Given the description of an element on the screen output the (x, y) to click on. 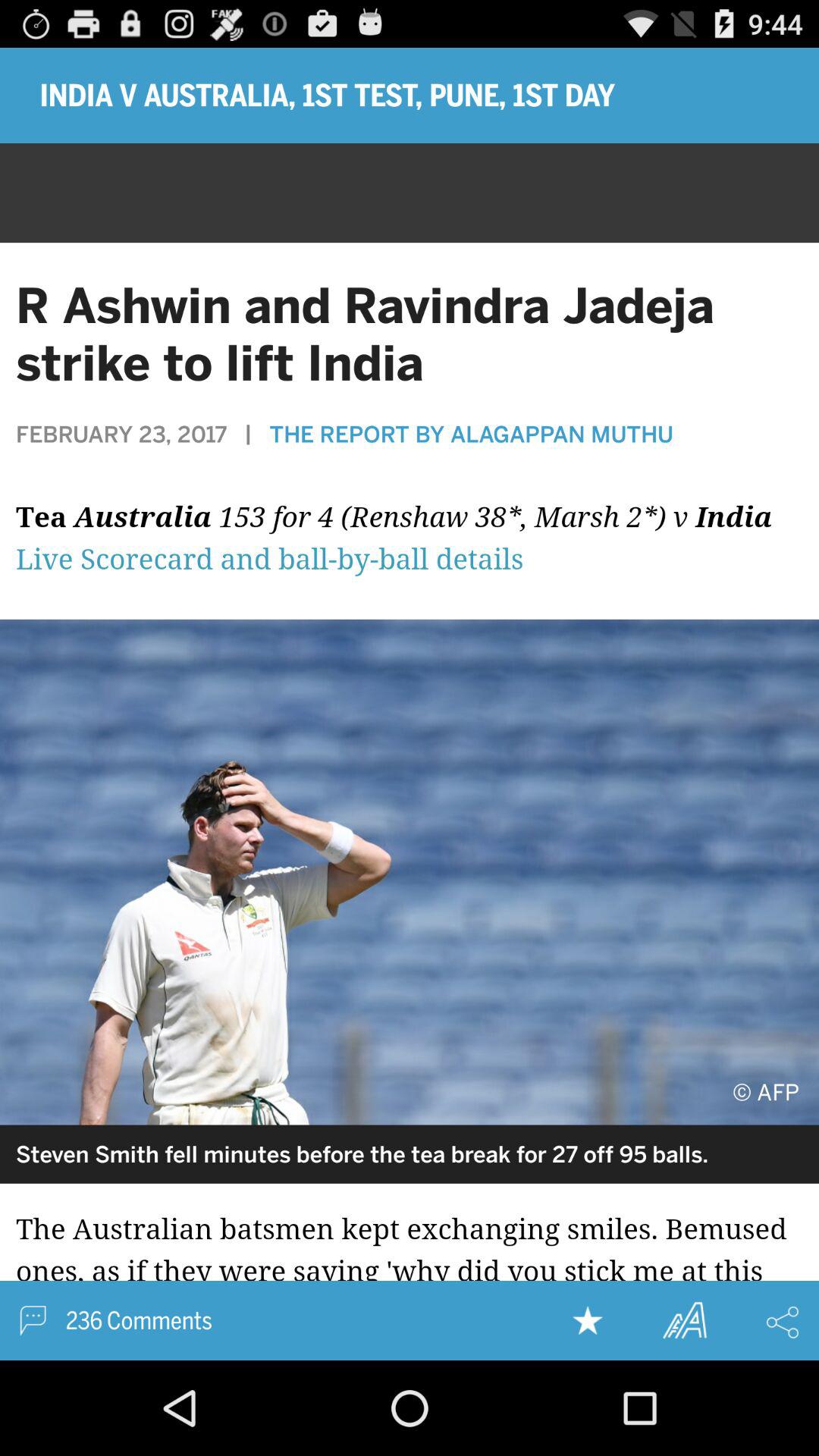
notifications (409, 546)
